Given the description of an element on the screen output the (x, y) to click on. 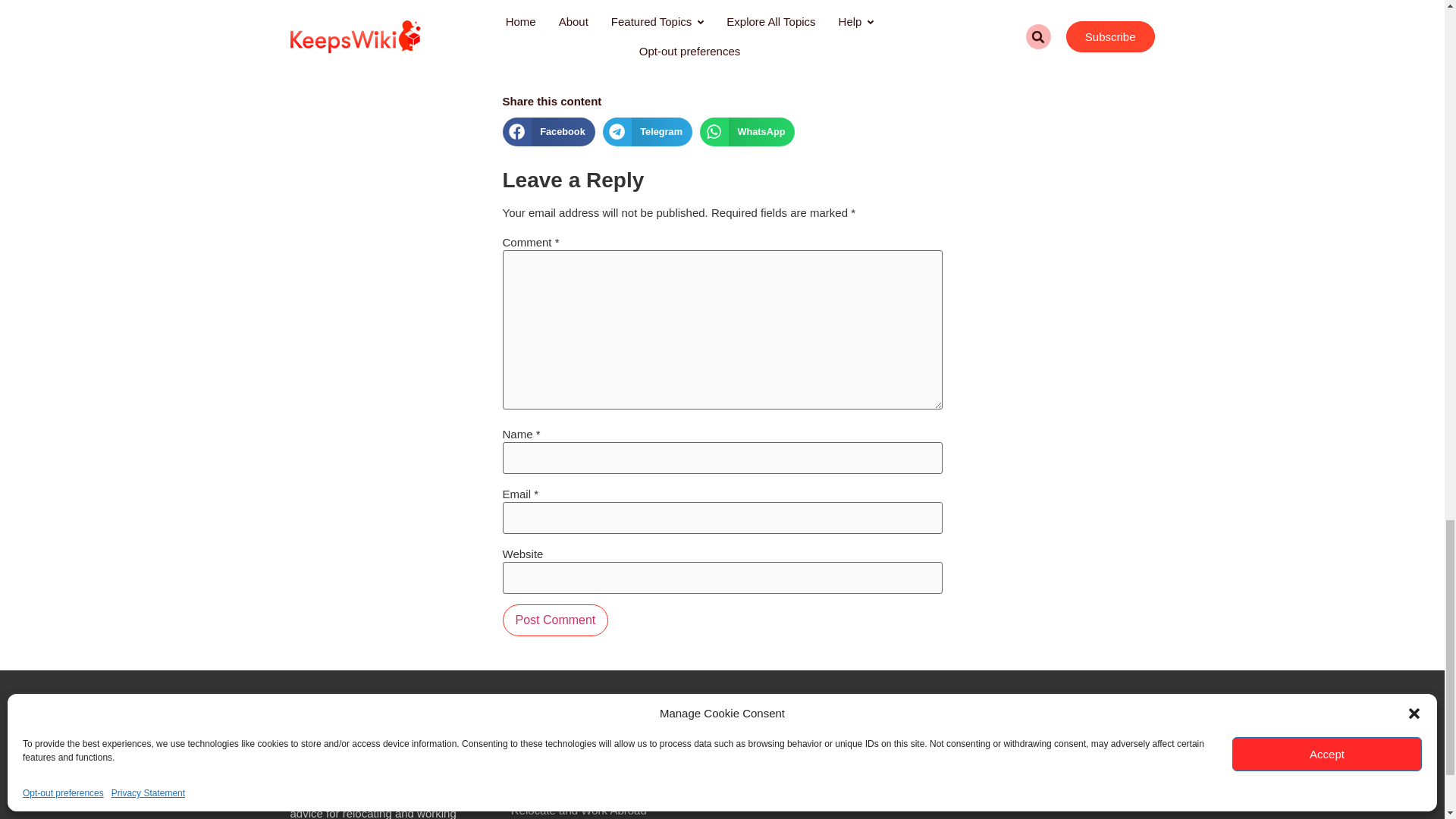
Post Comment (555, 620)
